Given the description of an element on the screen output the (x, y) to click on. 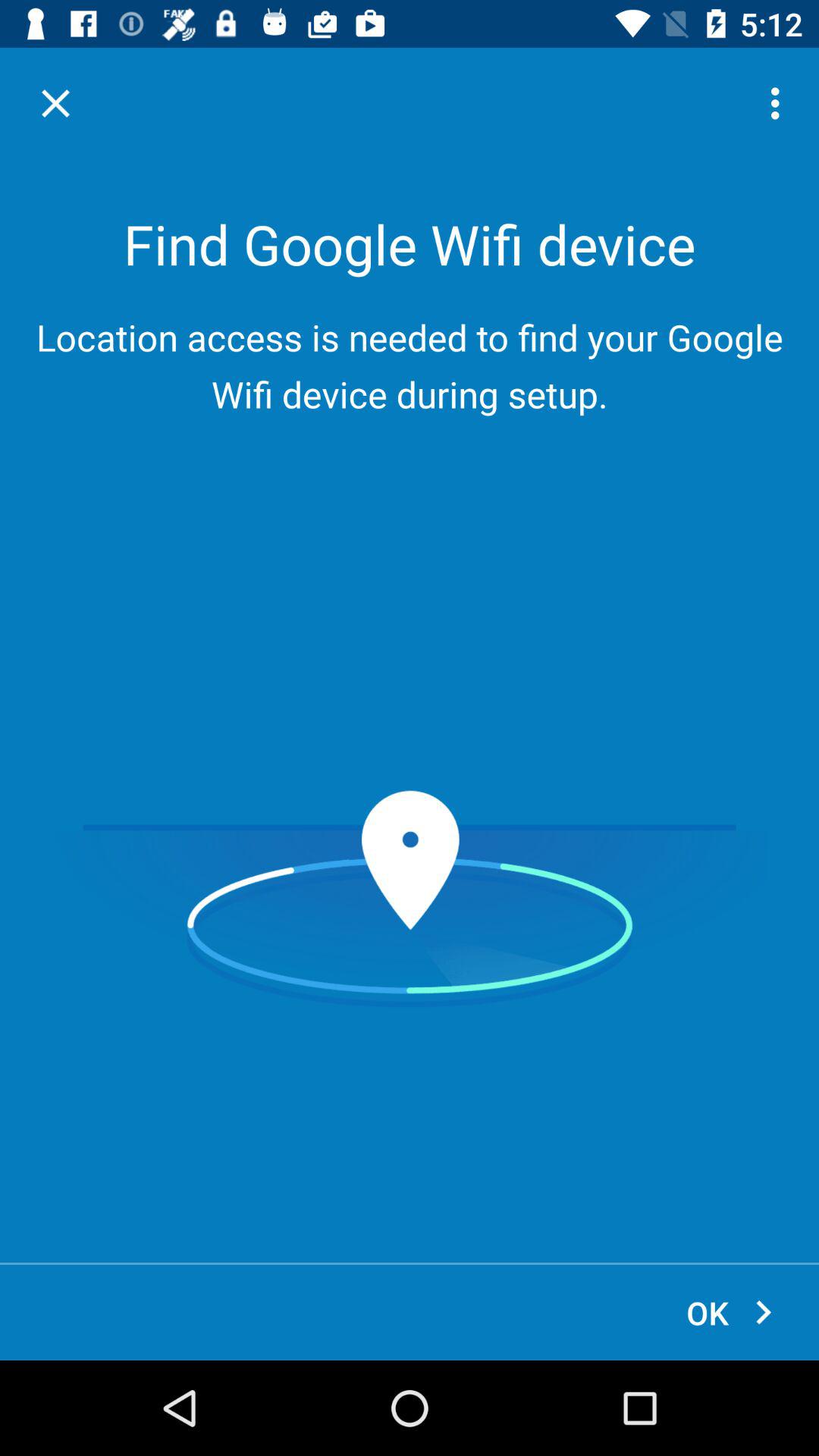
tap the item at the top right corner (779, 103)
